Given the description of an element on the screen output the (x, y) to click on. 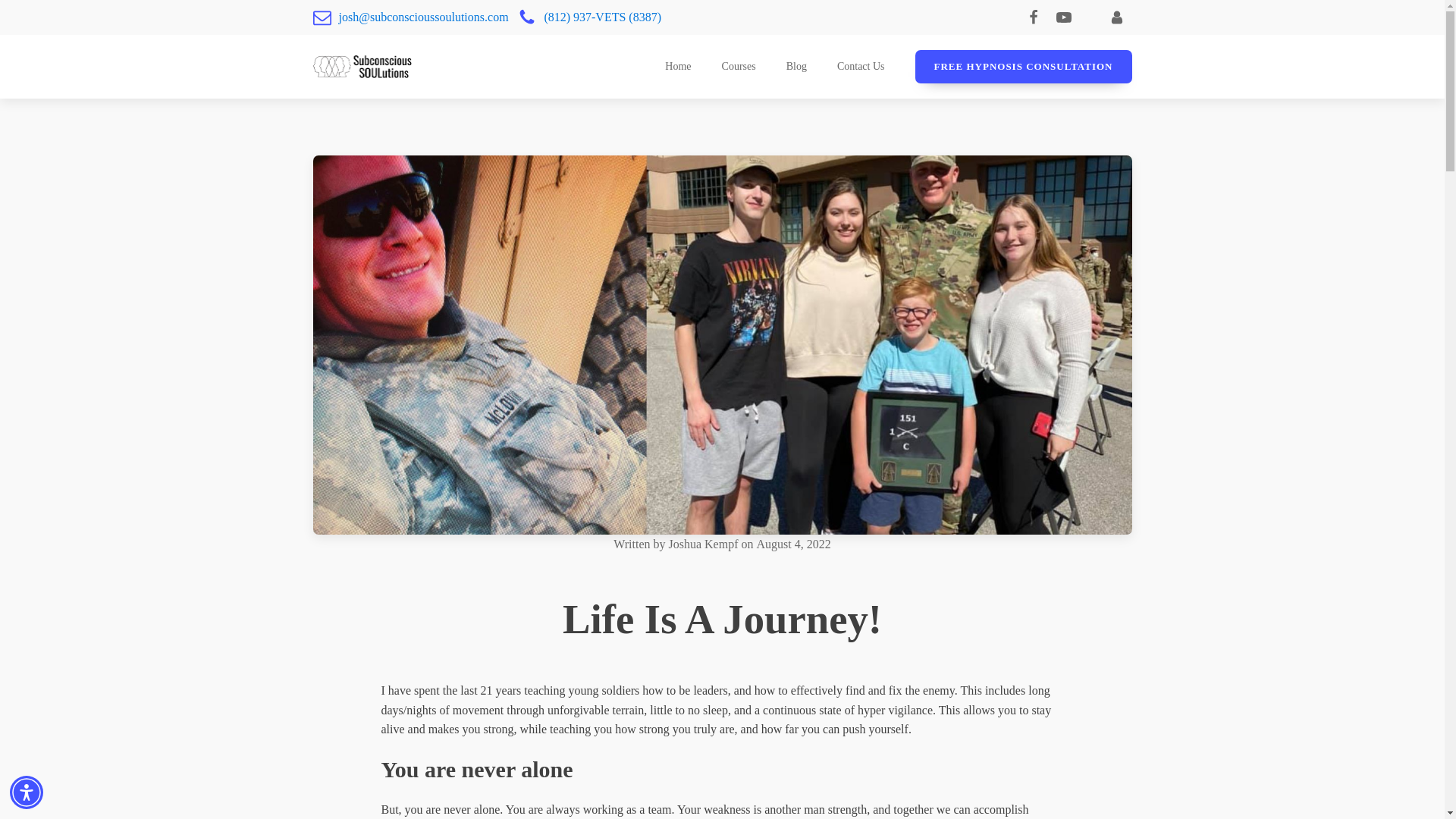
Blog (796, 66)
Home (677, 66)
Contact Us (860, 66)
Courses (738, 66)
Accessibility Menu (26, 792)
FREE HYPNOSIS CONSULTATION (1023, 66)
